Given the description of an element on the screen output the (x, y) to click on. 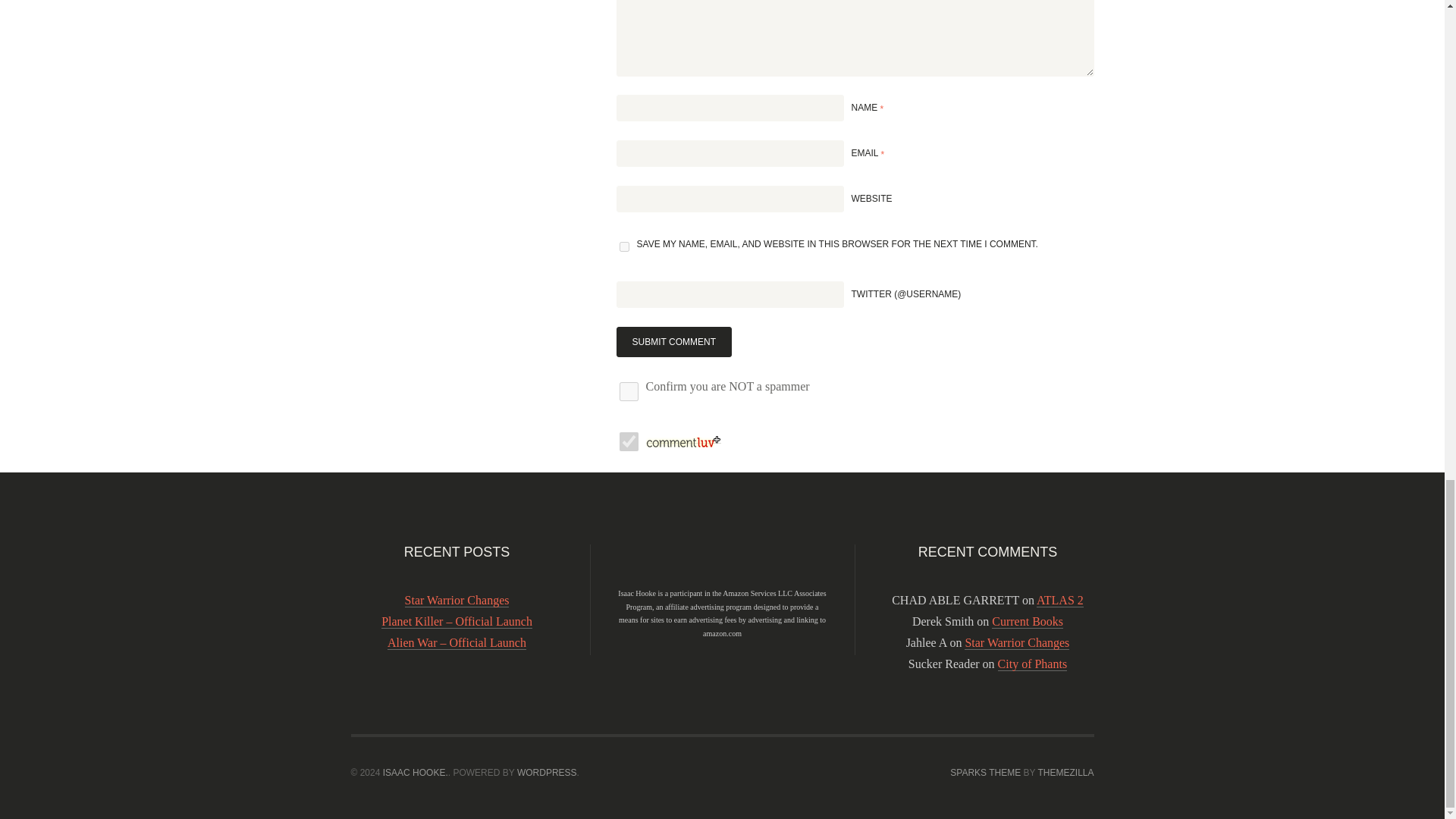
Submit Comment (673, 341)
CommentLuv is enabled (683, 436)
